Given the description of an element on the screen output the (x, y) to click on. 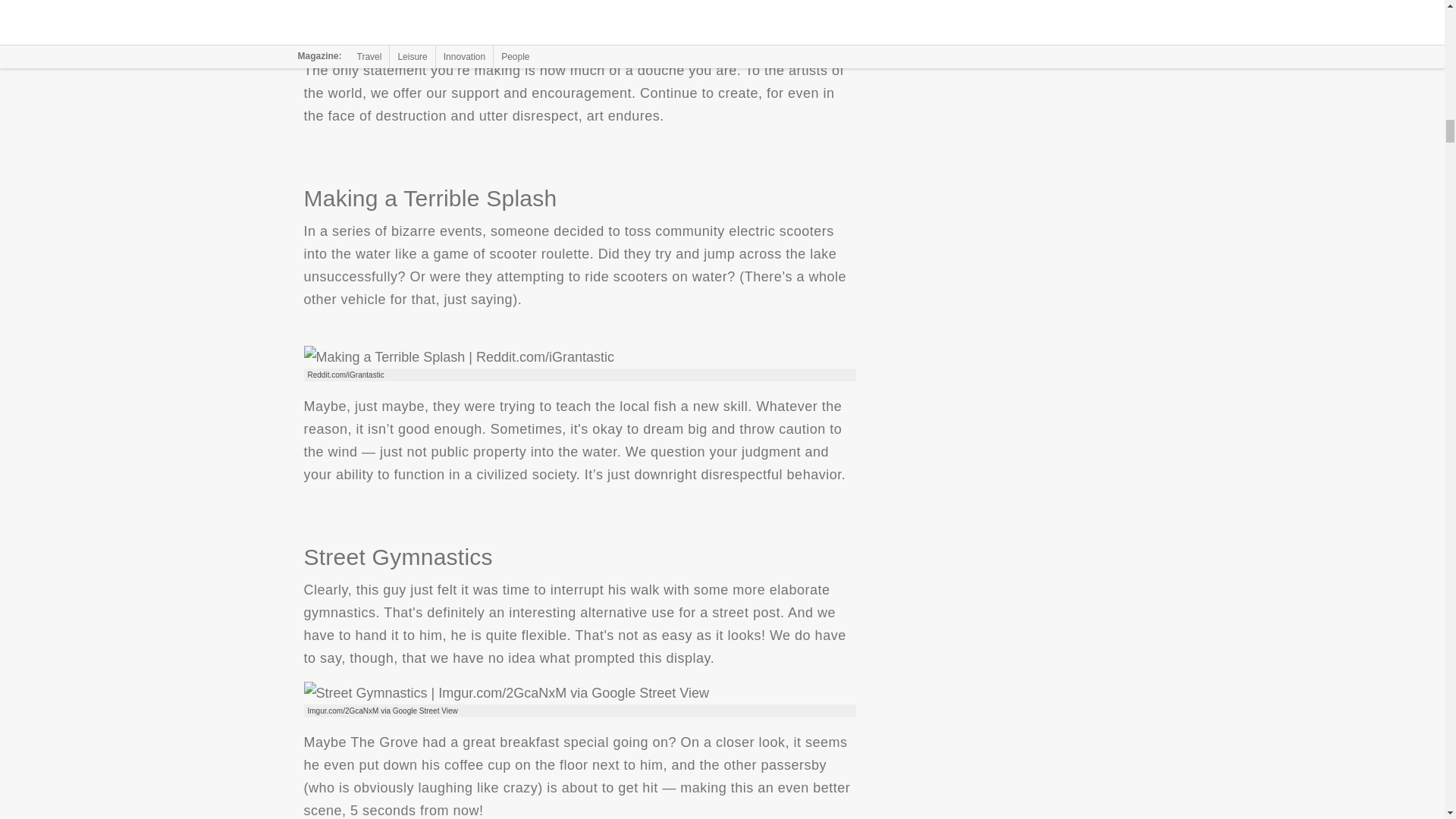
Cowards Deface, Artists Persist (500, 20)
Street Gymnastics (505, 692)
Making a Terrible Splash (458, 356)
